Given the description of an element on the screen output the (x, y) to click on. 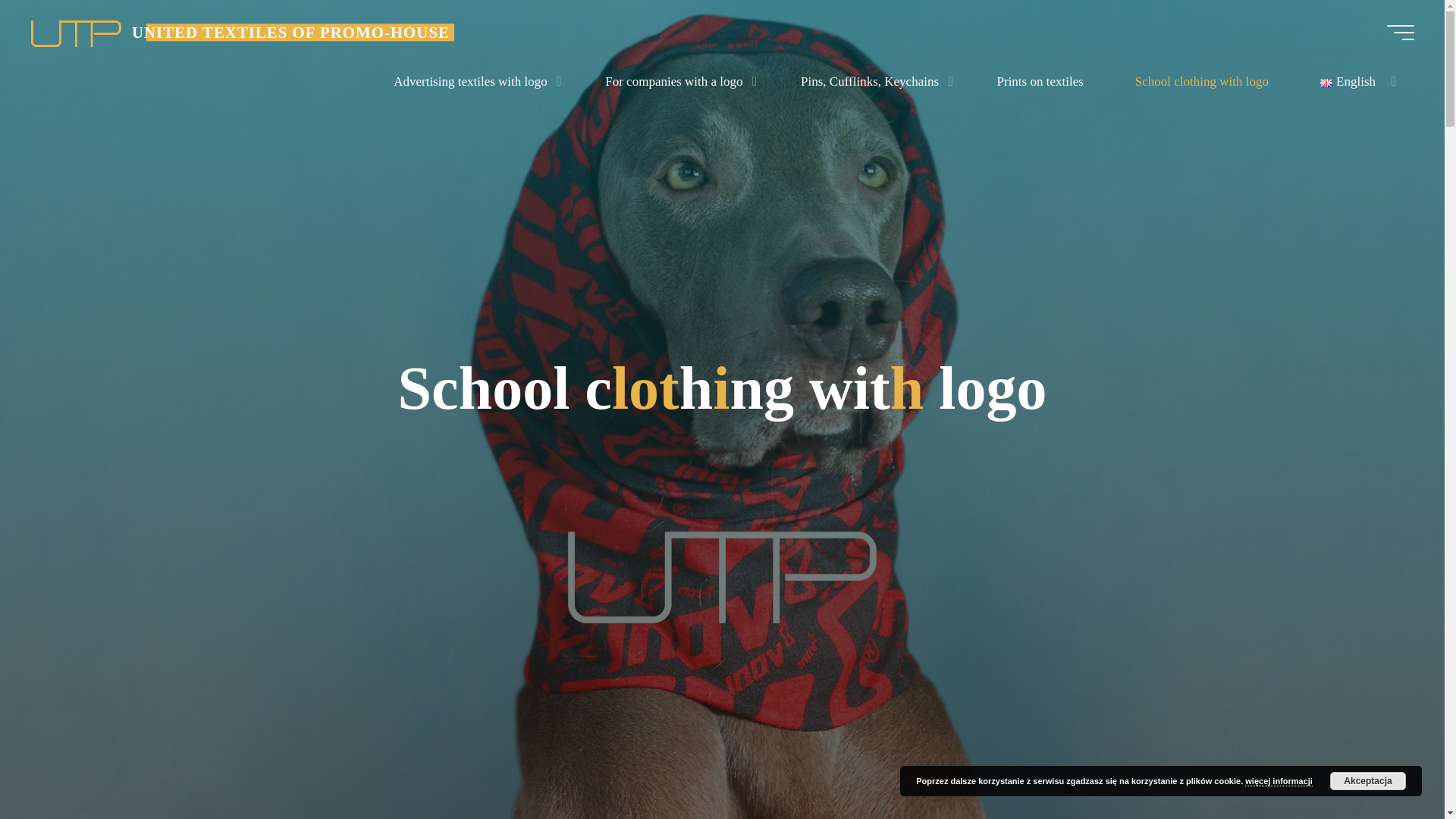
Tekstylia reklamowe z logo (291, 31)
Read more (721, 724)
UNITED TEXTILES OF PROMO-HOUSE (75, 31)
